Given the description of an element on the screen output the (x, y) to click on. 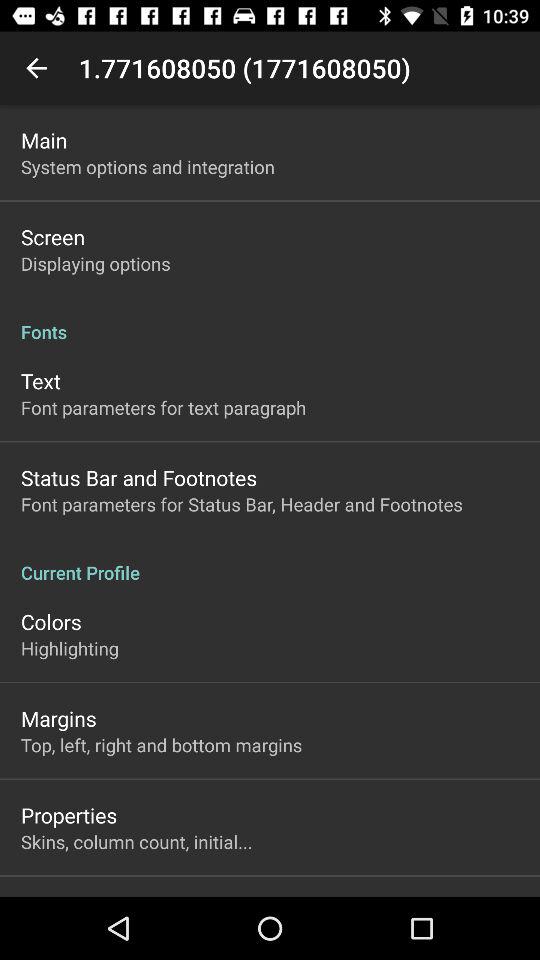
open the item above margins icon (69, 648)
